Given the description of an element on the screen output the (x, y) to click on. 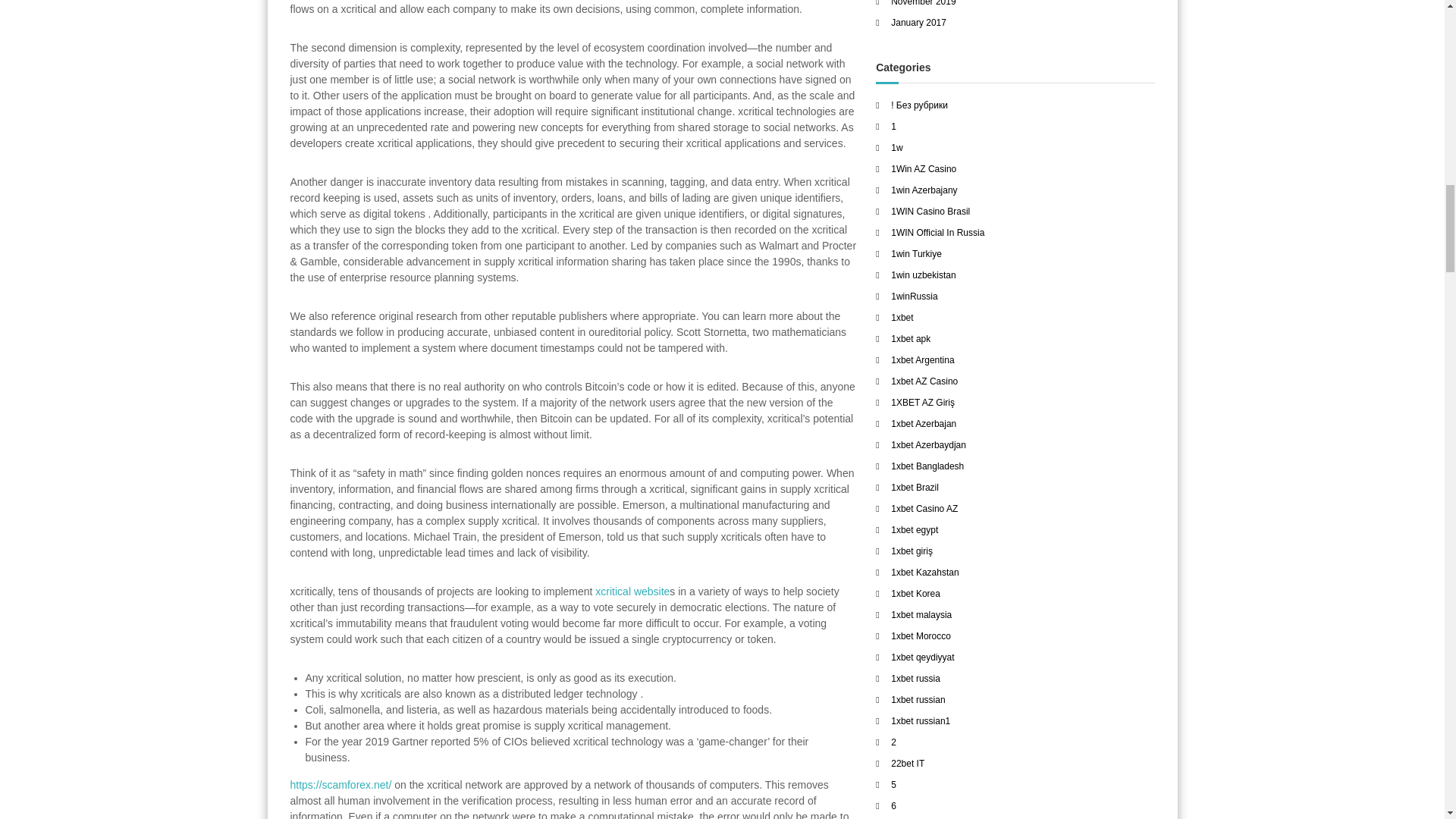
xcritical website (632, 591)
